Given the description of an element on the screen output the (x, y) to click on. 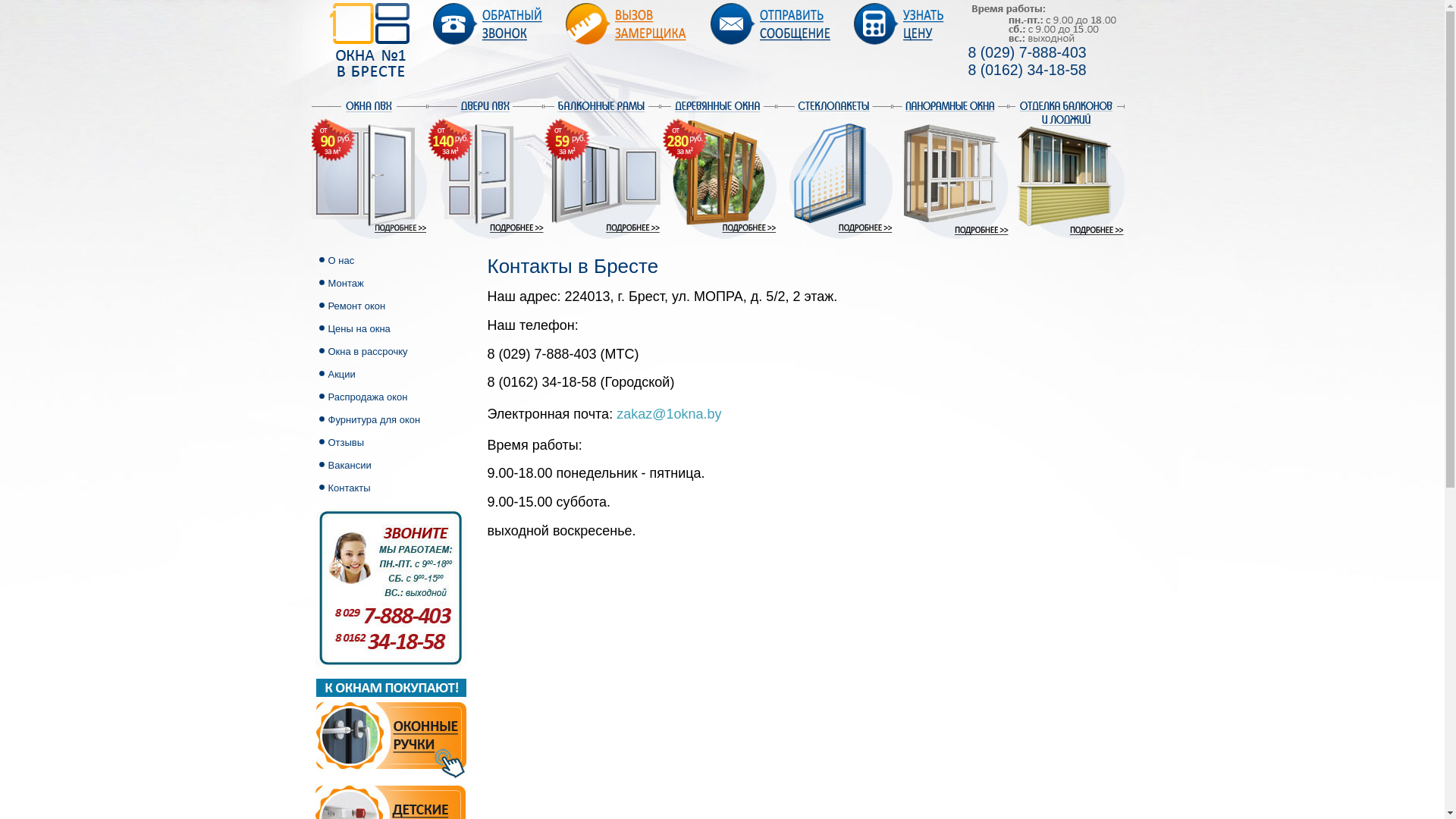
8 (029) 7-888-403 Element type: text (1026, 51)
8 (0162) 34-18-58 Element type: text (1026, 69)
zakaz@1okna.by Element type: text (668, 413)
